Given the description of an element on the screen output the (x, y) to click on. 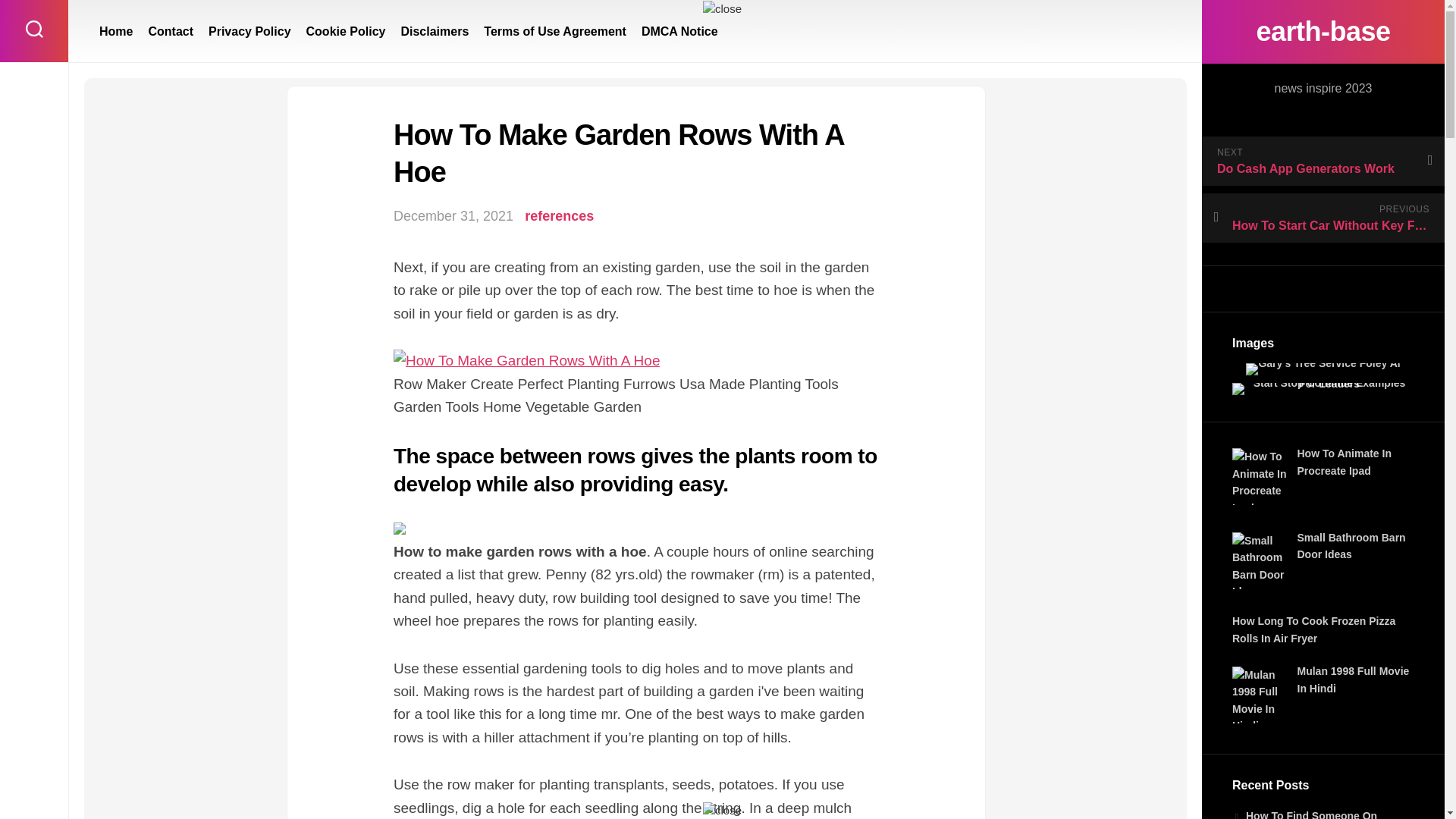
Disclaimers (434, 31)
How Long To Cook Frozen Pizza Rolls In Air Fryer (1312, 629)
How To Animate In Procreate Ipad (1259, 476)
references (559, 215)
How To Make Garden Rows With A Hoe (526, 360)
Contact (170, 31)
Small Bathroom Barn Door Ideas (1259, 560)
Mulan 1998 Full Movie In Hindi (1353, 679)
DMCA Notice (679, 31)
Mulan 1998 Full Movie In Hindi (1259, 694)
